Given the description of an element on the screen output the (x, y) to click on. 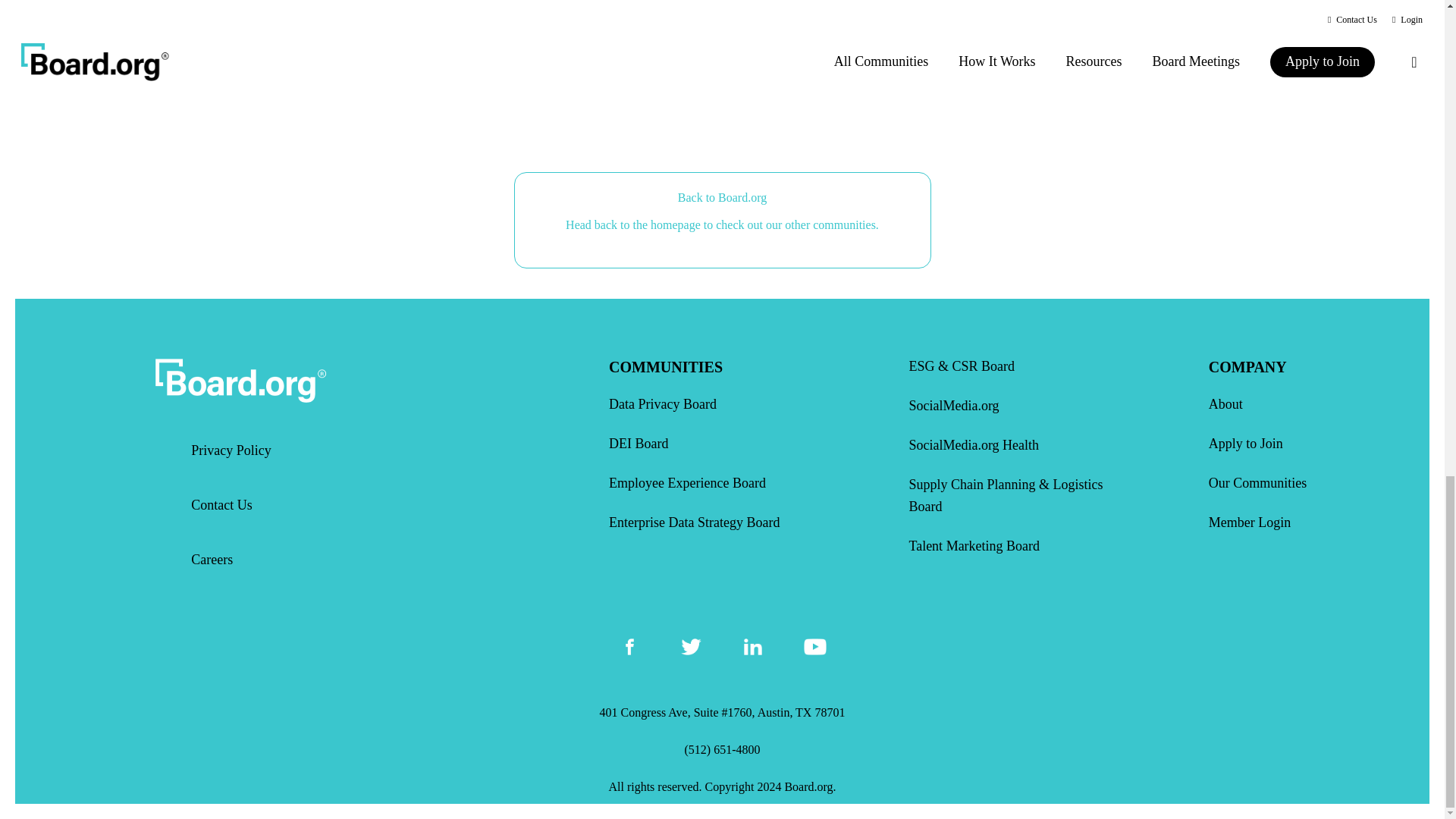
What is Board.org? (721, 73)
